Given the description of an element on the screen output the (x, y) to click on. 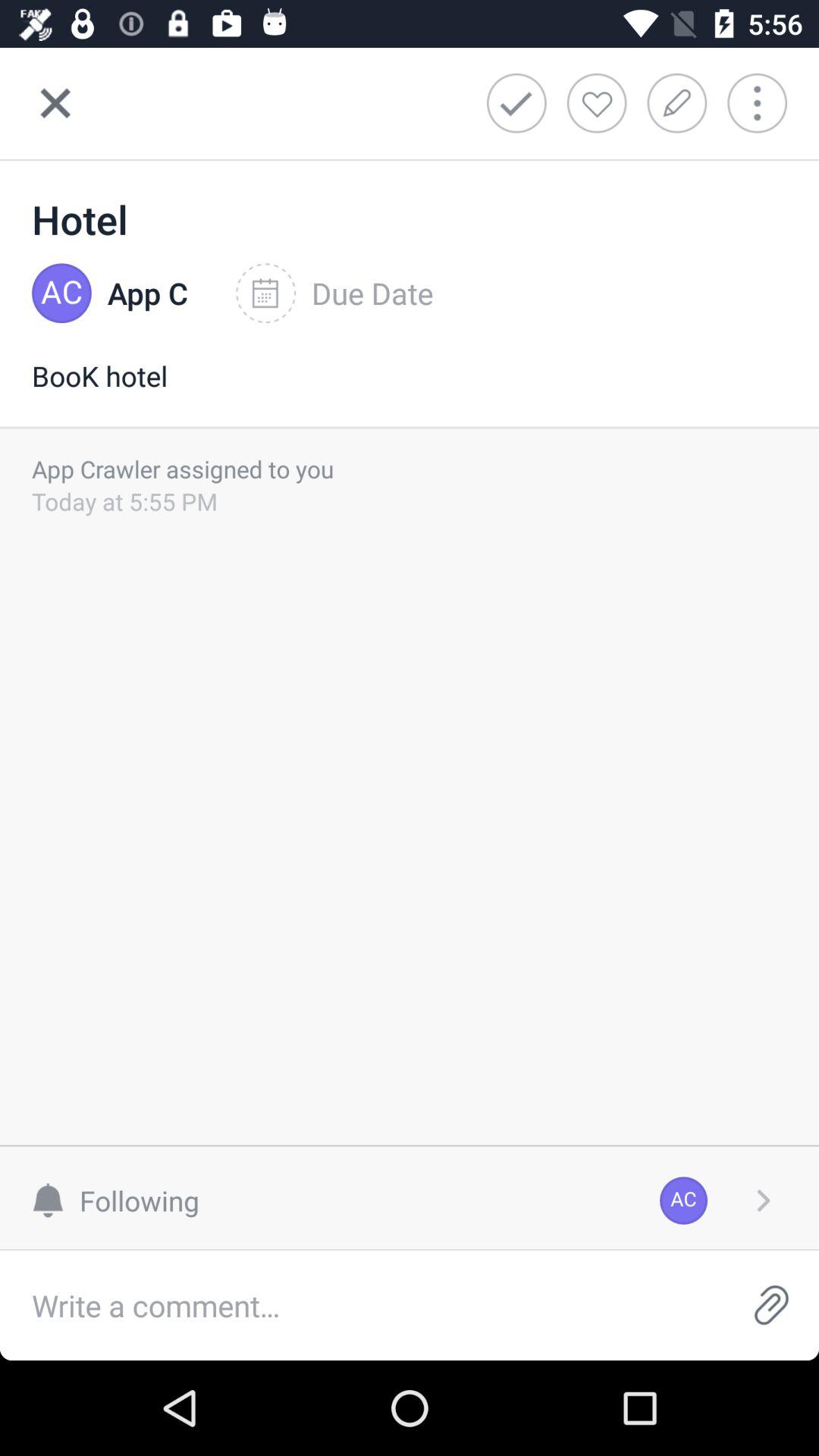
swipe to app c item (147, 293)
